Given the description of an element on the screen output the (x, y) to click on. 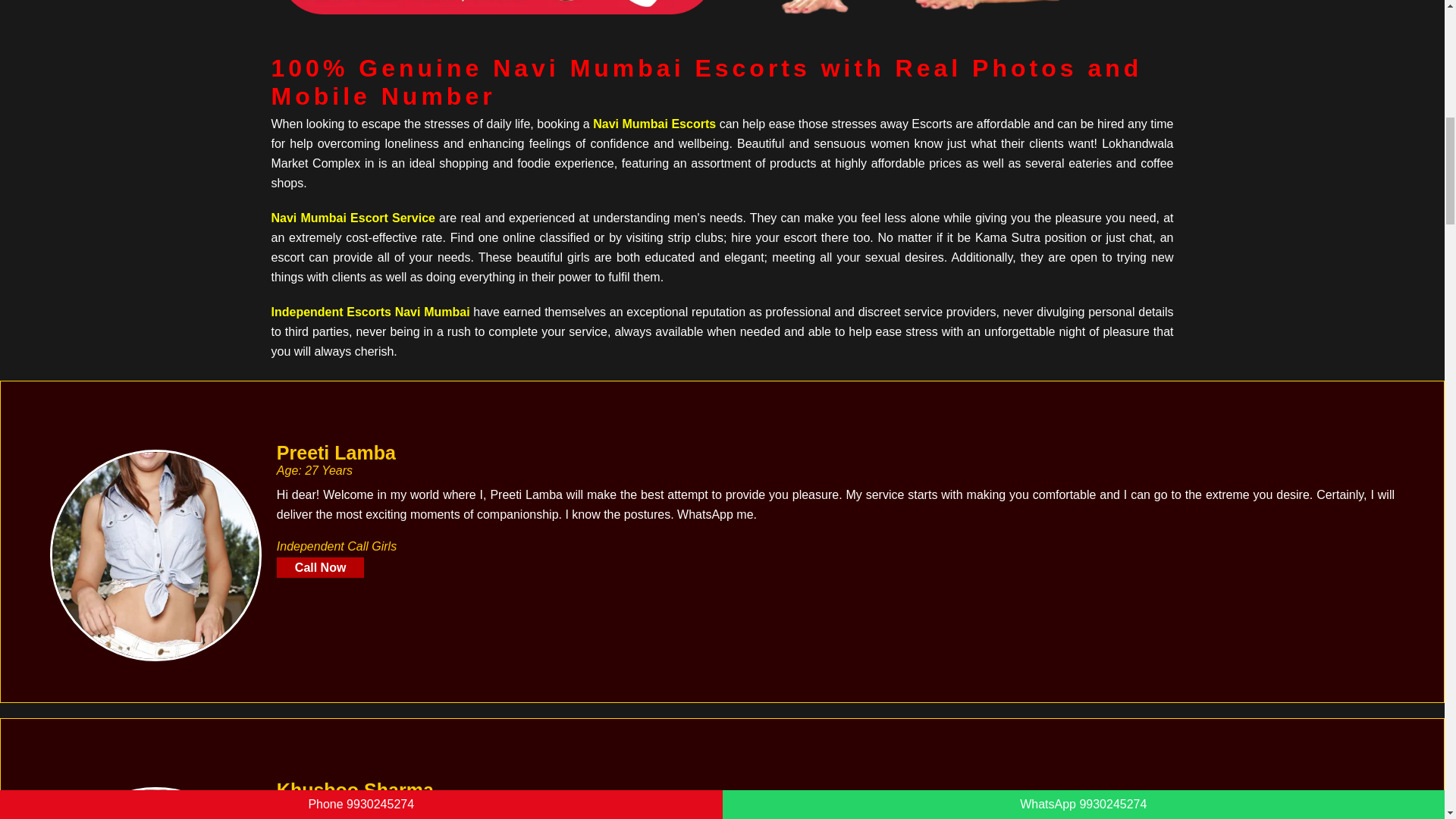
Navi Mumbai Escorts (654, 123)
New Contact Sexy Model Girls Navi Mumbai (155, 803)
Navi Mumbai Escort Service (352, 217)
New Navi Mumbai Escorts Phone WhatsApp (496, 7)
New Navi Mumbai escorts Hot Service (155, 554)
New Navi Mumbai call girls whatsapp Number (947, 14)
Call Now (320, 567)
